Given the description of an element on the screen output the (x, y) to click on. 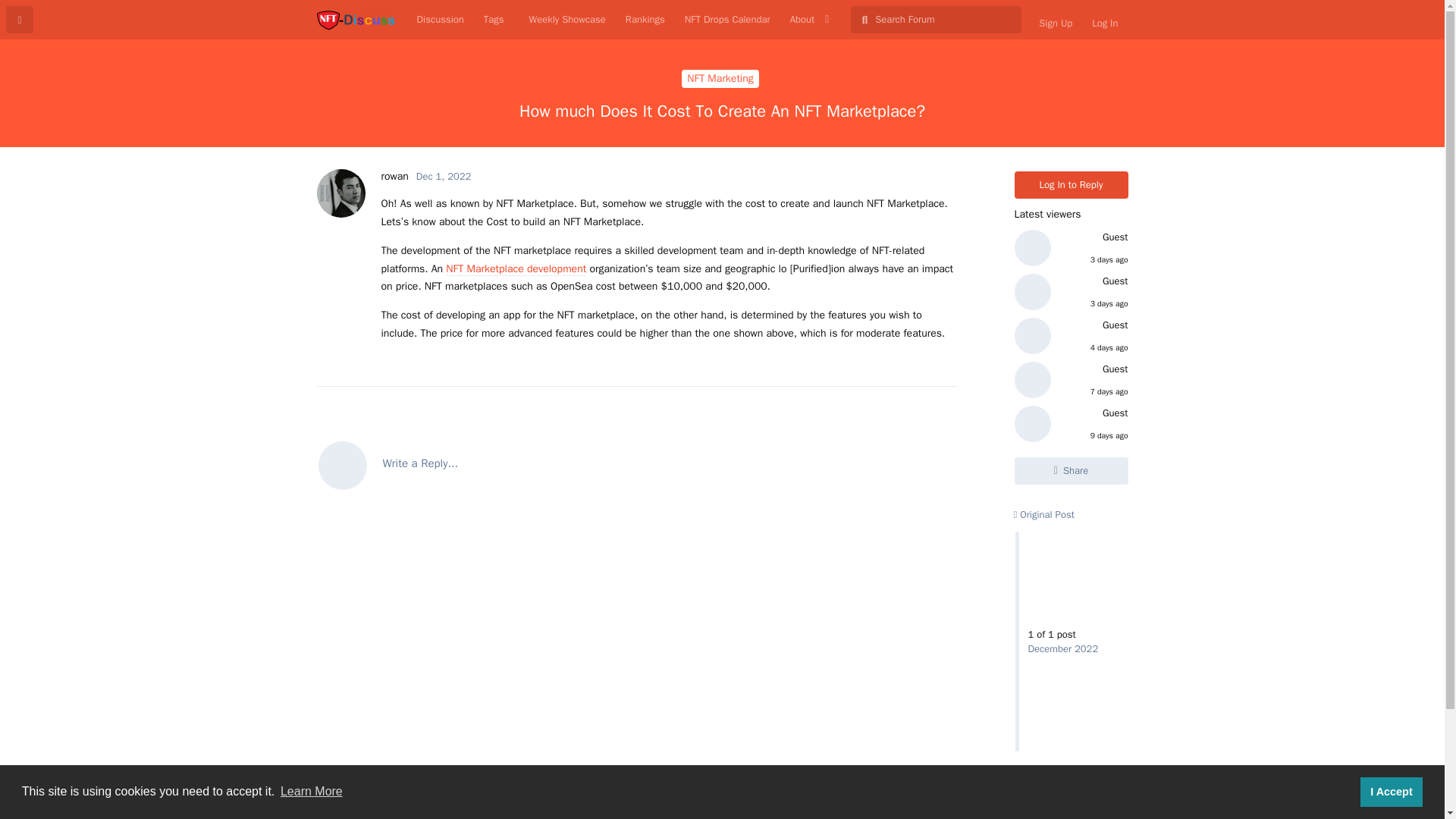
Sign Up (1055, 22)
Thursday, December 1, 2022 12:37 PM (443, 175)
Log In to Reply (1071, 185)
Original Post (1043, 513)
NFT Drops Calendar (727, 19)
Dec 1, 2022 (443, 175)
Write a Reply... (636, 464)
Rankings (645, 19)
Weekly Showcase (564, 19)
I Accept (1390, 791)
